Given the description of an element on the screen output the (x, y) to click on. 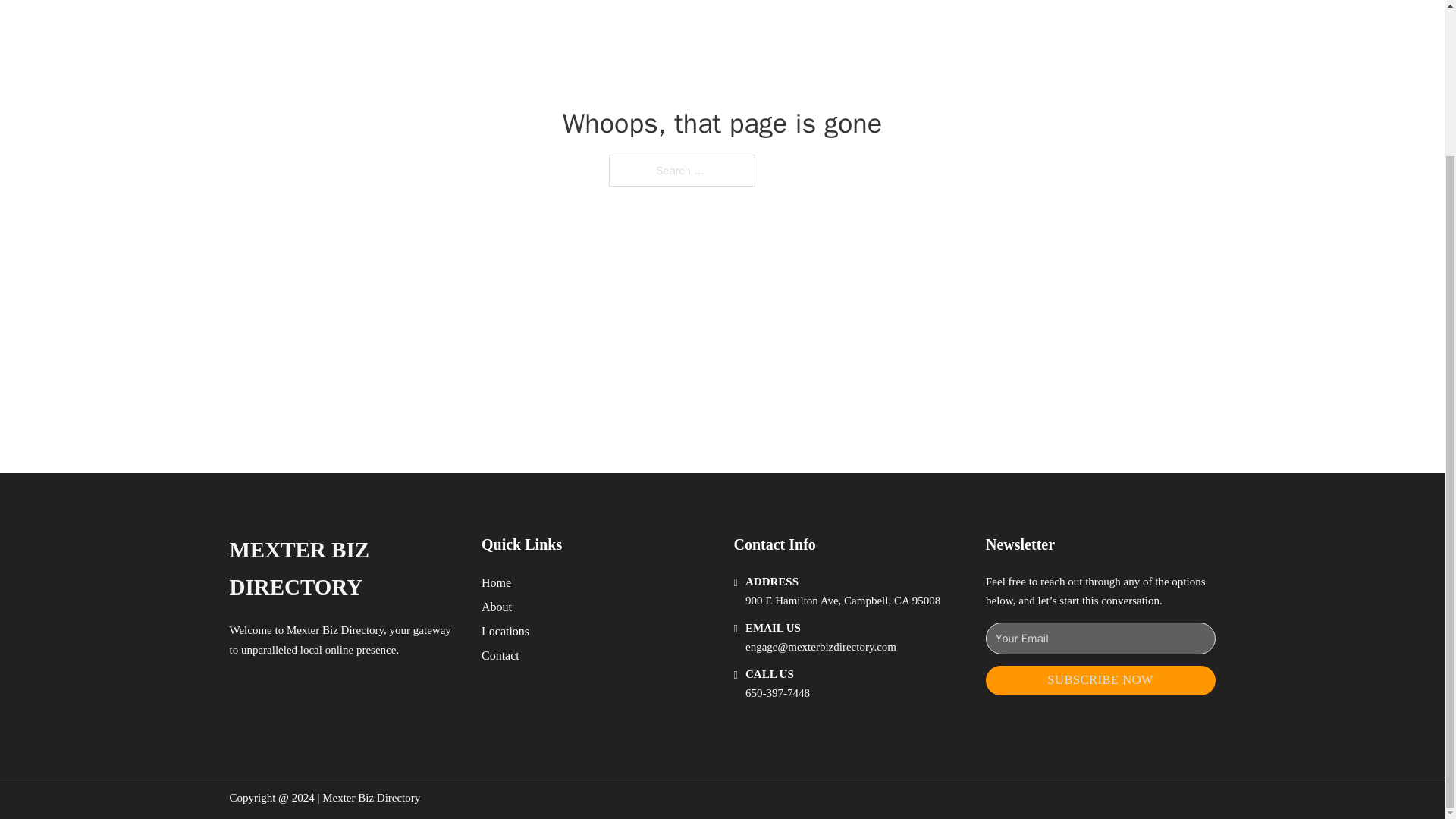
About (496, 607)
MEXTER BIZ DIRECTORY (343, 568)
Locations (505, 630)
Home (496, 582)
650-397-7448 (777, 693)
Contact (500, 655)
SUBSCRIBE NOW (1100, 680)
